Given the description of an element on the screen output the (x, y) to click on. 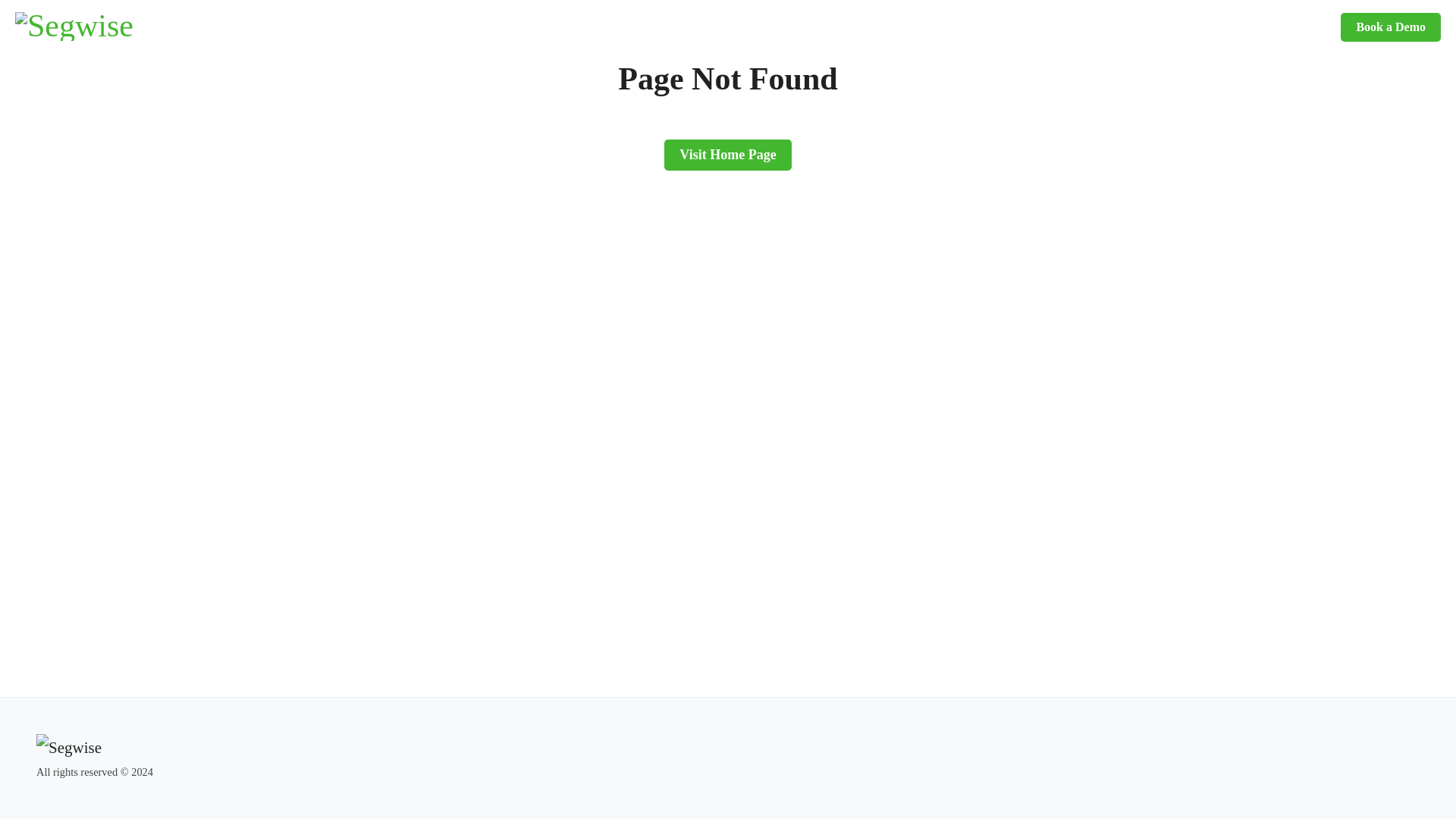
Book a Demo (1390, 26)
Book a Demo (1390, 26)
Visit Home Page (726, 154)
Visit Home Page (726, 135)
